Given the description of an element on the screen output the (x, y) to click on. 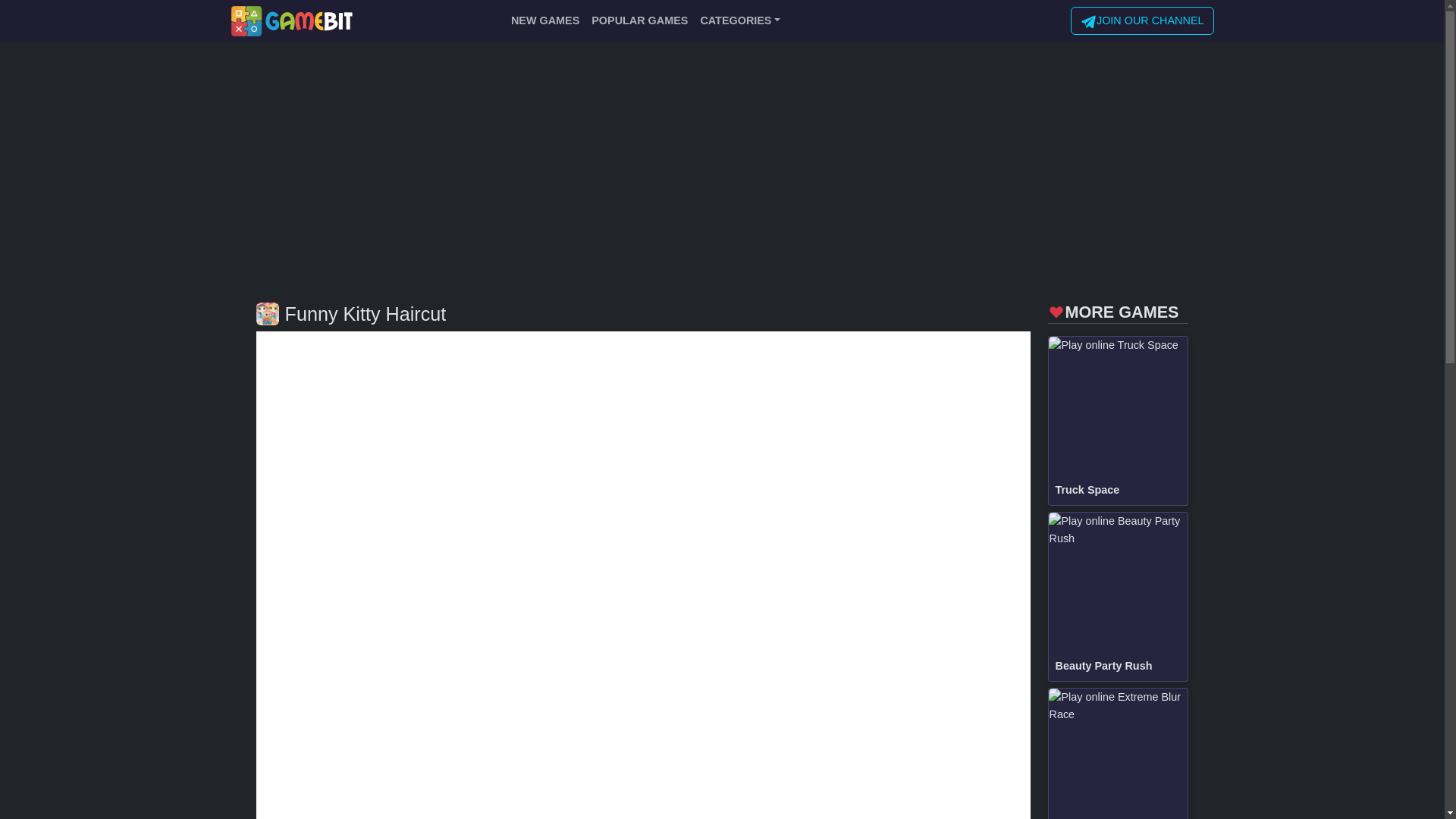
CATEGORIES (740, 20)
NEW GAMES (545, 20)
POPULAR GAMES (639, 20)
